Given the description of an element on the screen output the (x, y) to click on. 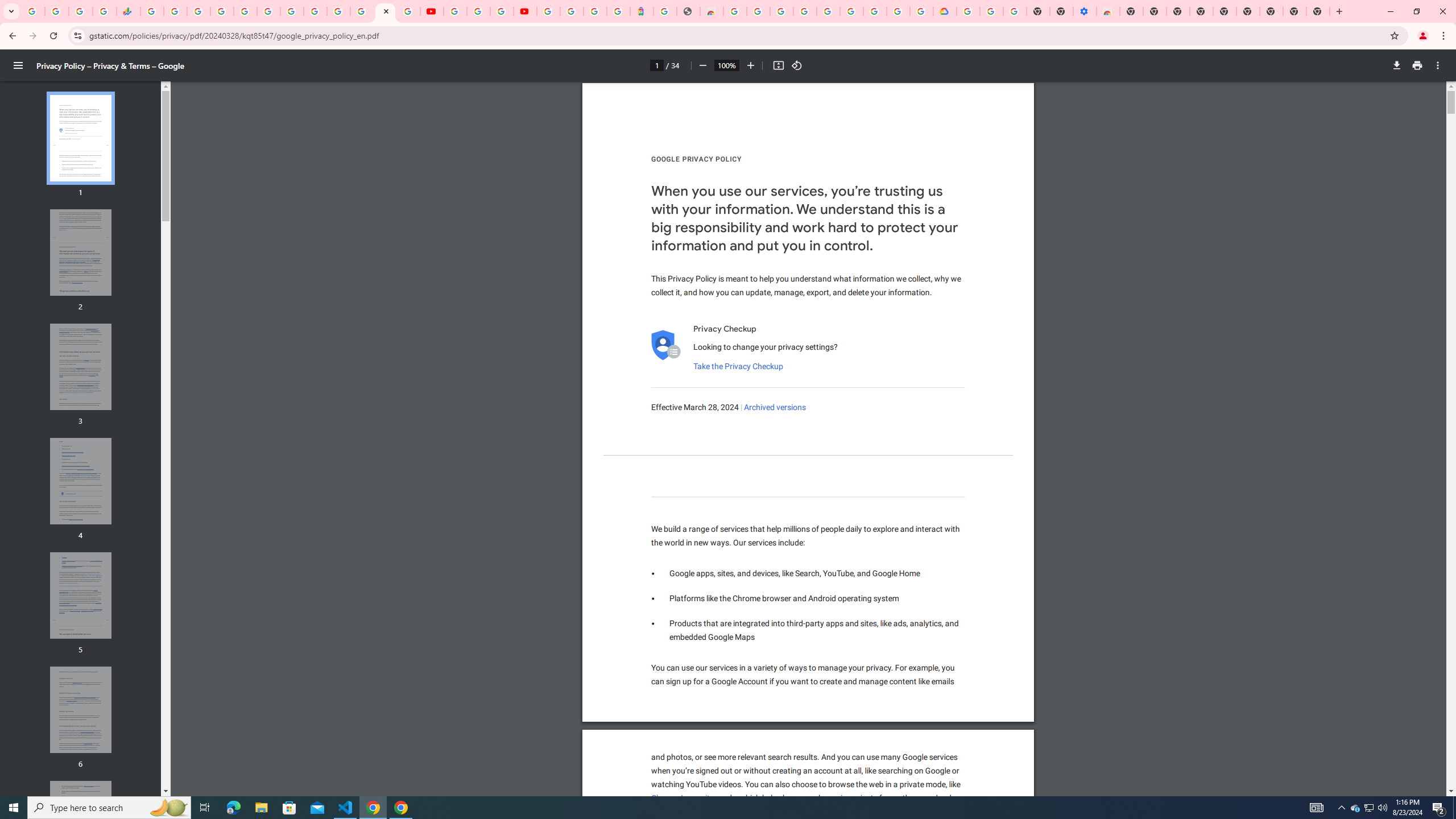
Create your Google Account (757, 11)
Take the Privacy Checkup (738, 366)
YouTube (314, 11)
Settings - Accessibility (1085, 11)
Download (1396, 65)
Thumbnail for page 2 (80, 252)
Chrome Web Store - Accessibility extensions (1108, 11)
Turn cookies on or off - Computer - Google Account Help (1015, 11)
Android TV Policies and Guidelines - Transparency Center (291, 11)
Thumbnail for page 6 (80, 709)
Chrome Web Store - Household (711, 11)
